Given the description of an element on the screen output the (x, y) to click on. 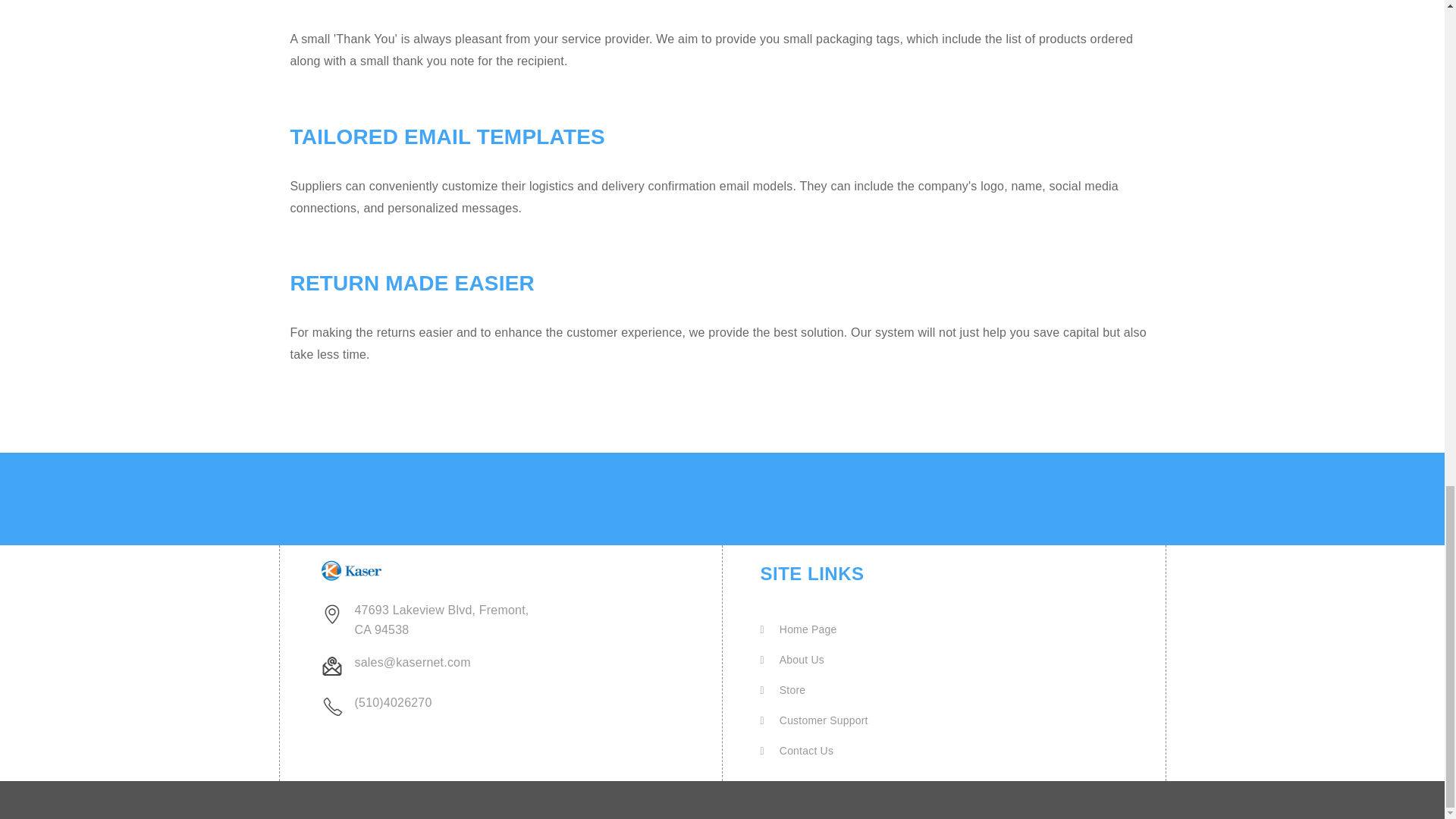
Home Page (797, 629)
